Given the description of an element on the screen output the (x, y) to click on. 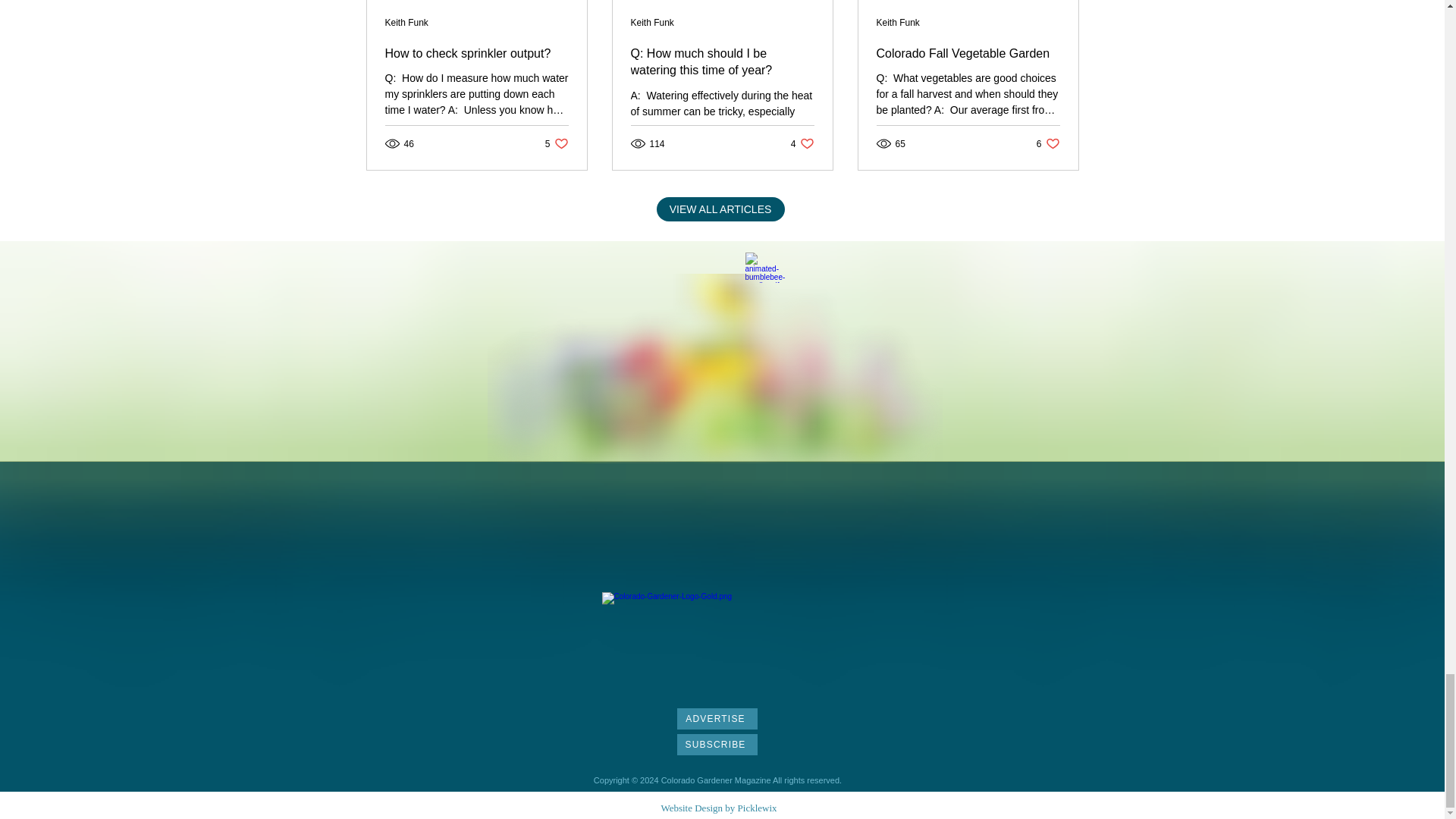
Keith Funk (406, 22)
Keith Funk (652, 22)
Keith Funk (898, 22)
